Given the description of an element on the screen output the (x, y) to click on. 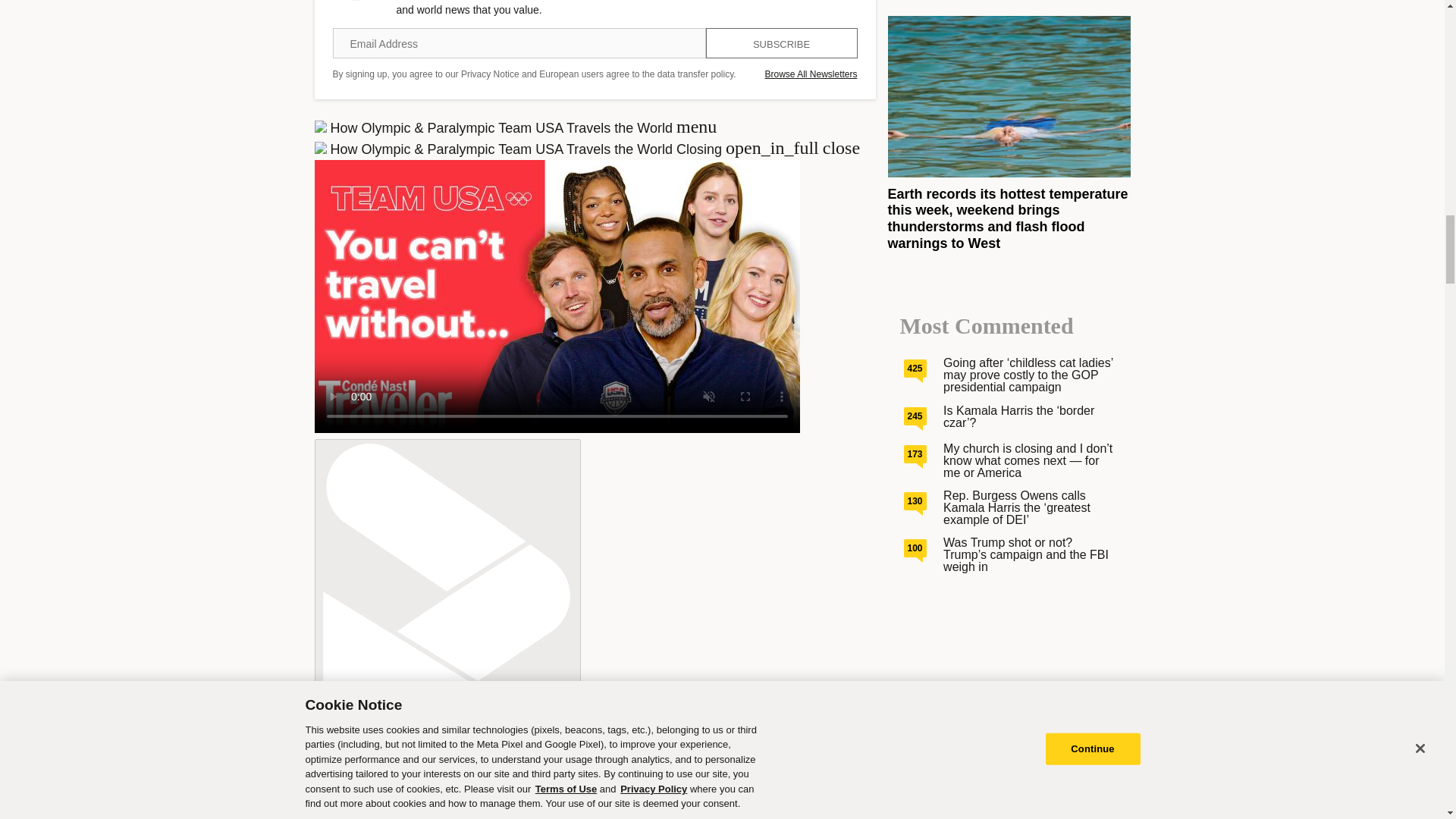
SUBSCRIBE (780, 42)
Browse All Newsletters (810, 73)
